Given the description of an element on the screen output the (x, y) to click on. 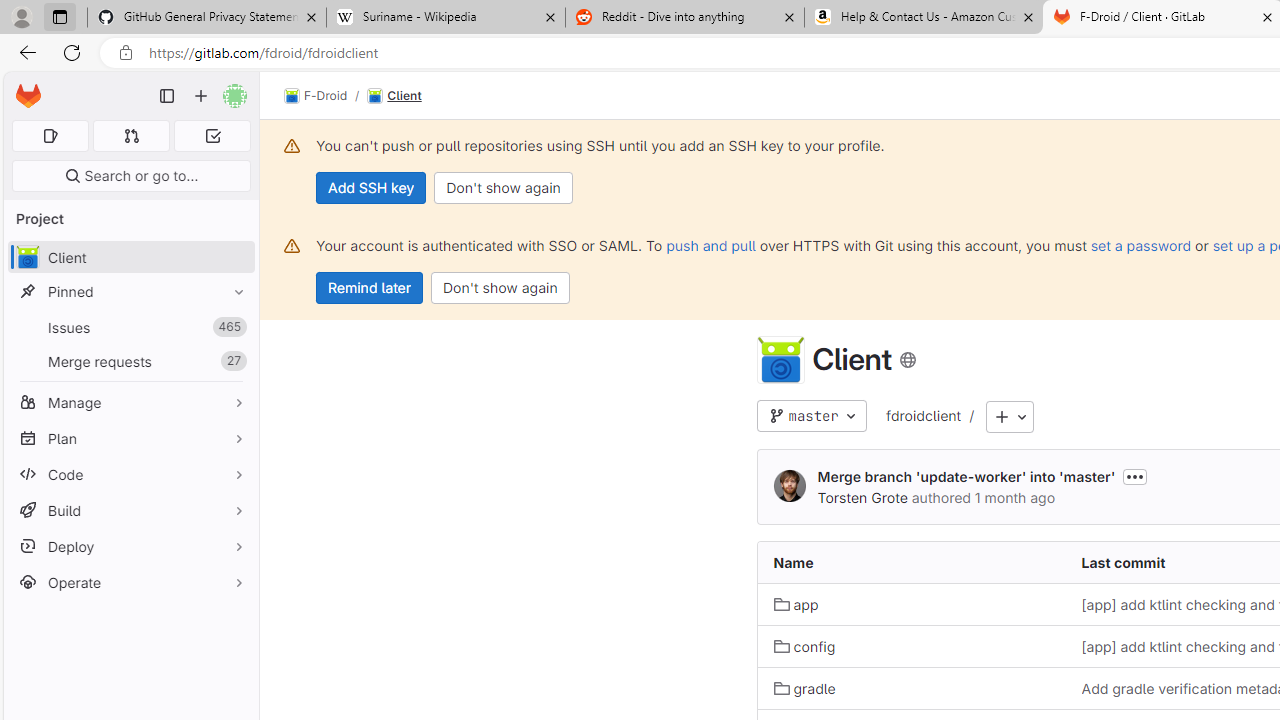
Name (911, 562)
set a password (1140, 245)
Torsten Grote's avatar (789, 487)
Issues465 (130, 327)
F-Droid (316, 96)
Primary navigation sidebar (167, 96)
Suriname - Wikipedia (445, 17)
gradle (804, 688)
fdroidclient (923, 417)
Create new... (201, 96)
Operate (130, 582)
Remind later (369, 287)
